Given the description of an element on the screen output the (x, y) to click on. 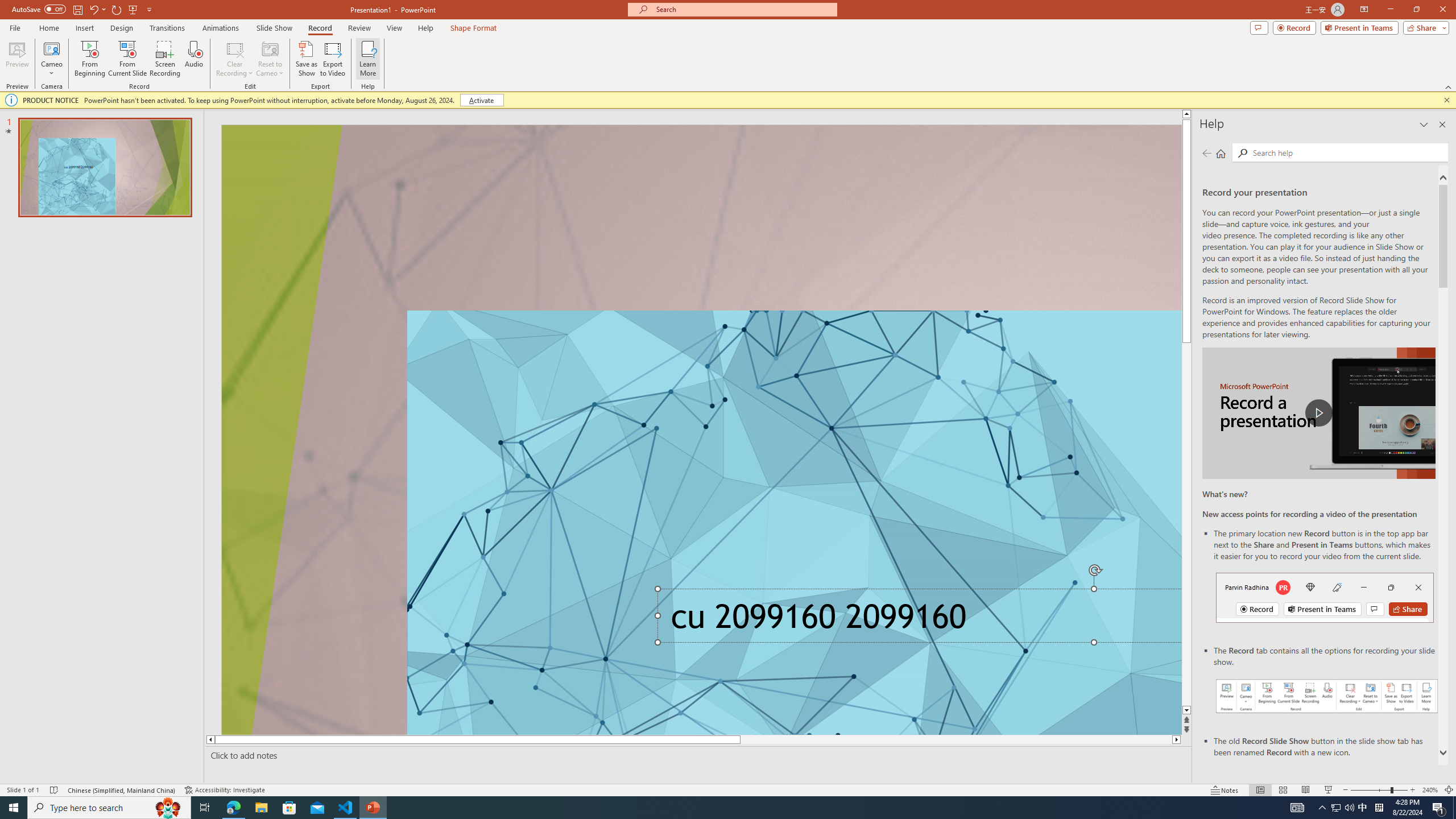
Previous page (1206, 152)
An abstract genetic concept (701, 429)
